Given the description of an element on the screen output the (x, y) to click on. 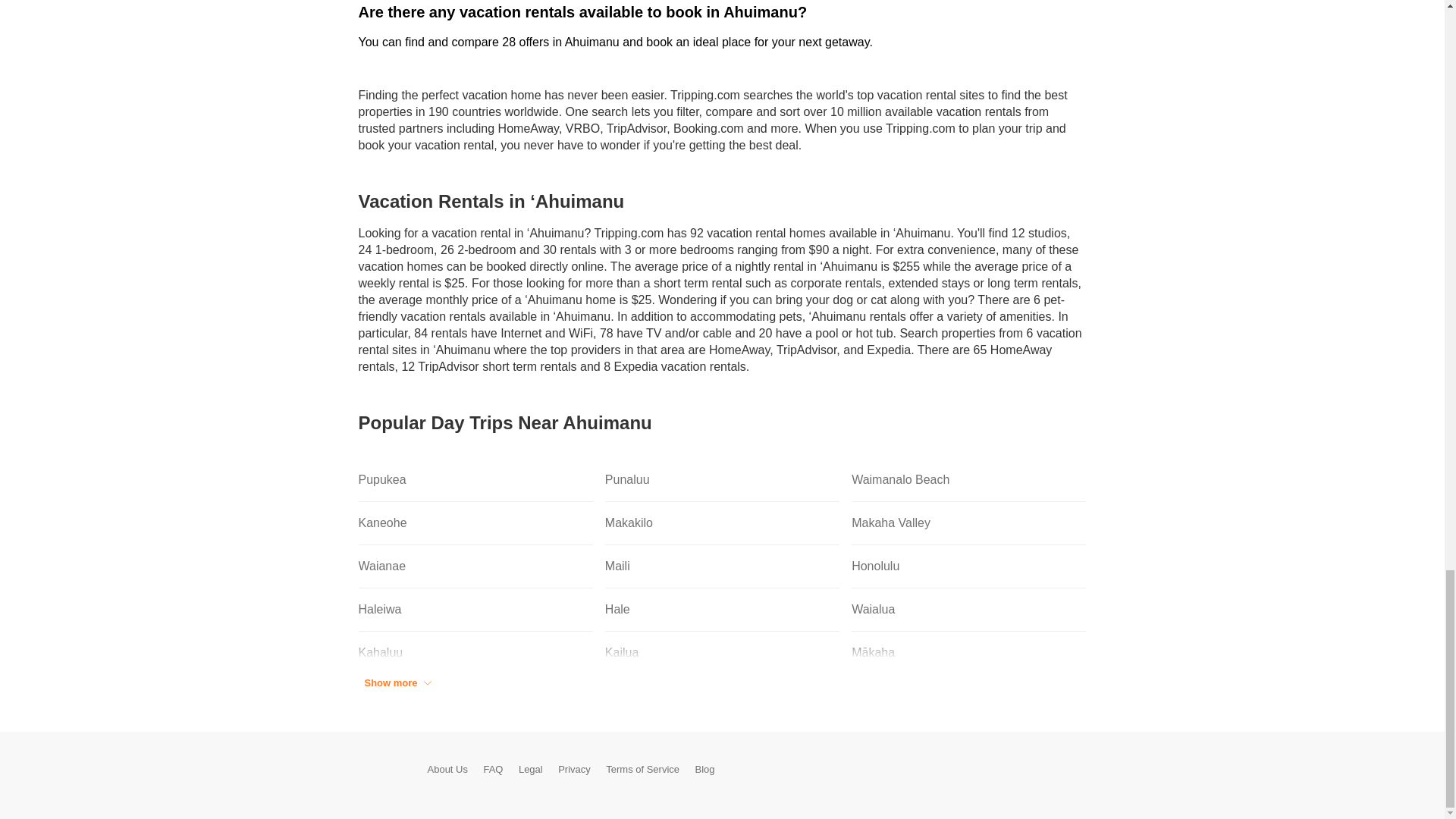
Mililani (475, 696)
Maili (722, 566)
Makakilo (722, 523)
Waimanalo Beach (968, 480)
Maili (722, 566)
Punaluu (722, 480)
Honolulu (968, 566)
Kailua (722, 652)
Pupukea (475, 480)
Kaneohe (475, 523)
